Given the description of an element on the screen output the (x, y) to click on. 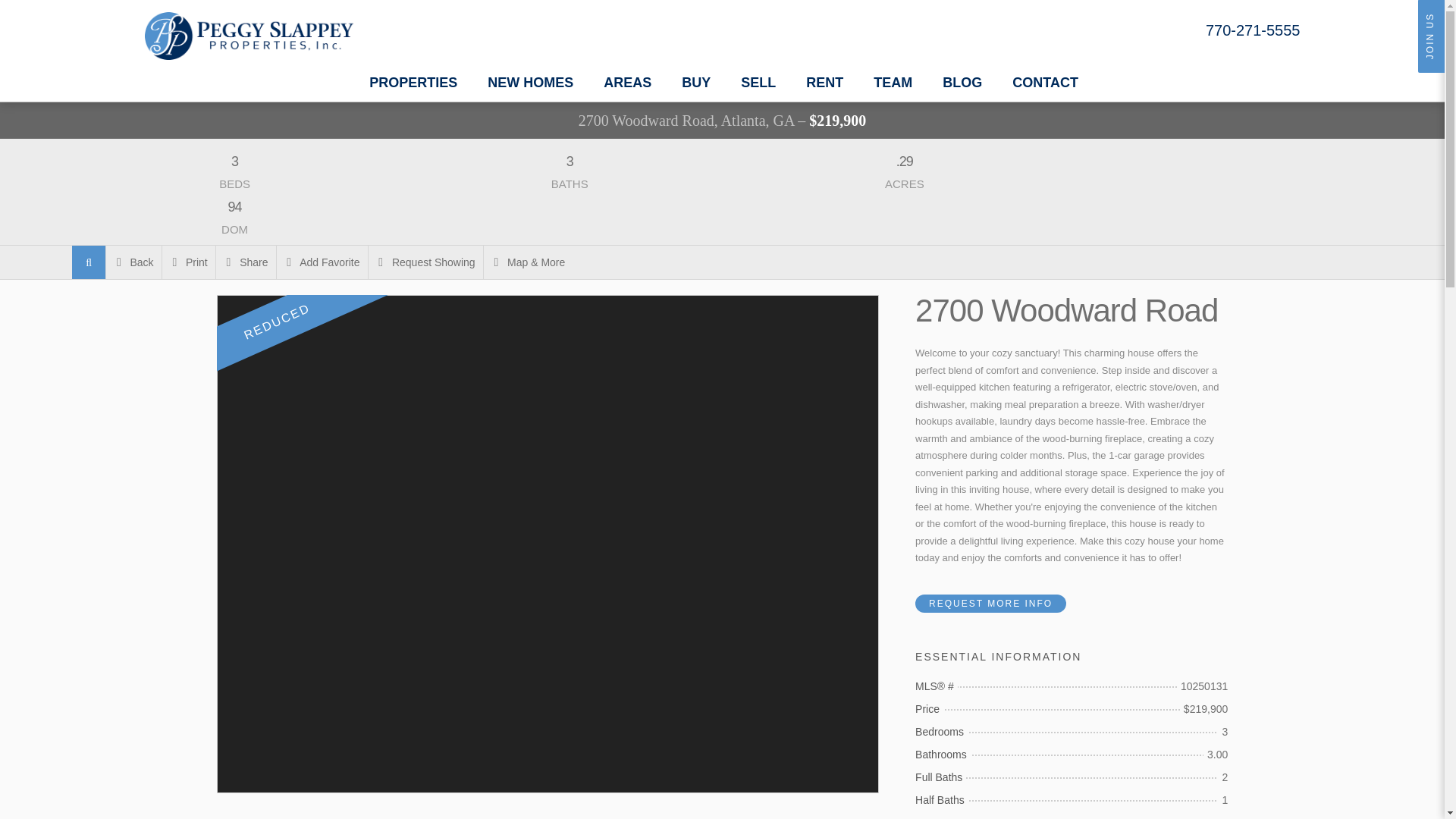
NEW HOMES (530, 82)
BUY (695, 82)
PROPERTIES (412, 82)
SELL (758, 82)
770-271-5555 (1252, 30)
AREAS (627, 82)
